Given the description of an element on the screen output the (x, y) to click on. 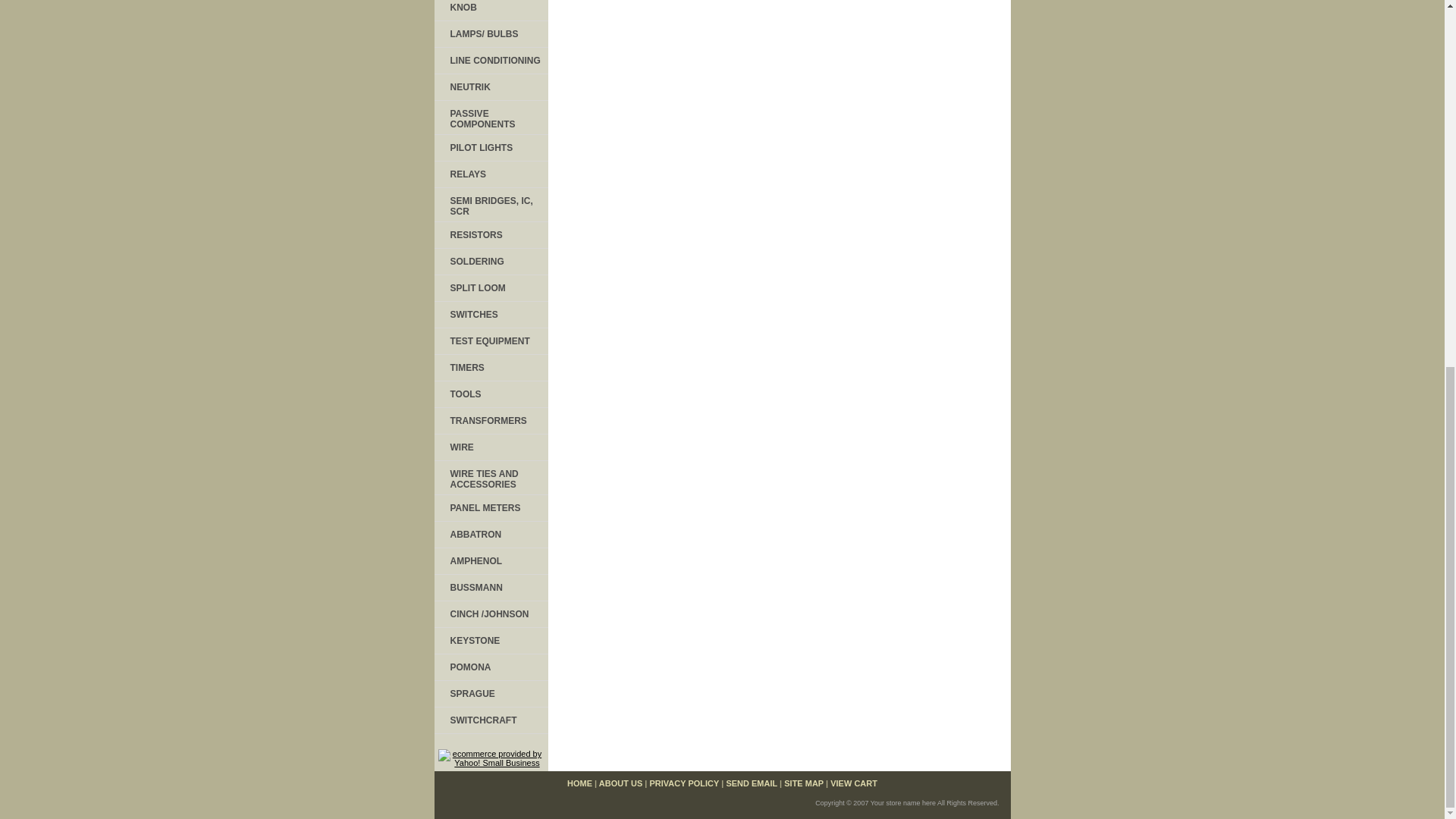
PILOT LIGHTS (490, 148)
RELAYS (490, 174)
KNOB (490, 10)
LINE CONDITIONING (490, 60)
PASSIVE COMPONENTS (490, 117)
NEUTRIK (490, 87)
RESISTORS (490, 234)
SEMI BRIDGES, IC, SCR (490, 204)
